Given the description of an element on the screen output the (x, y) to click on. 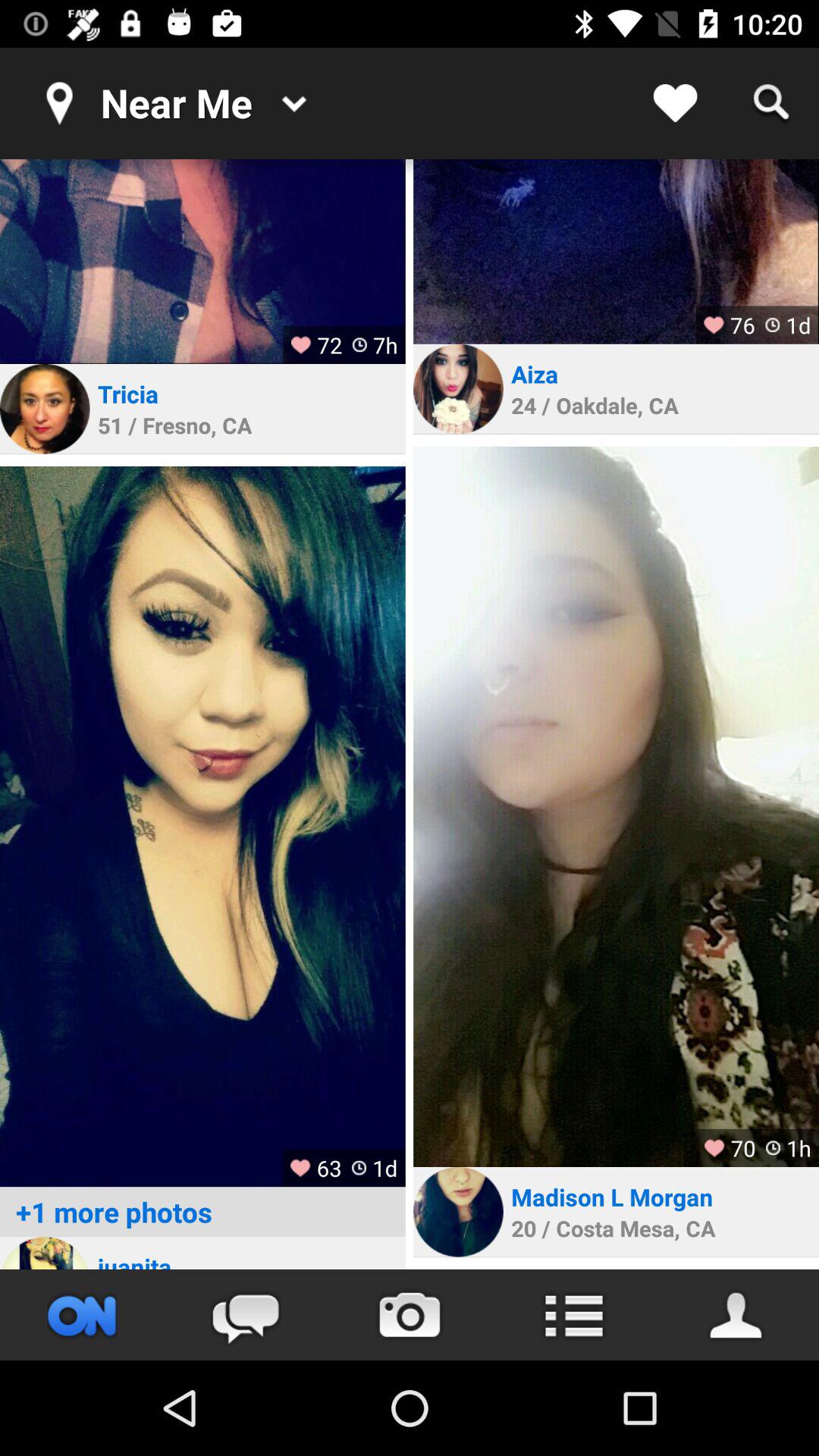
chat (245, 1315)
